Given the description of an element on the screen output the (x, y) to click on. 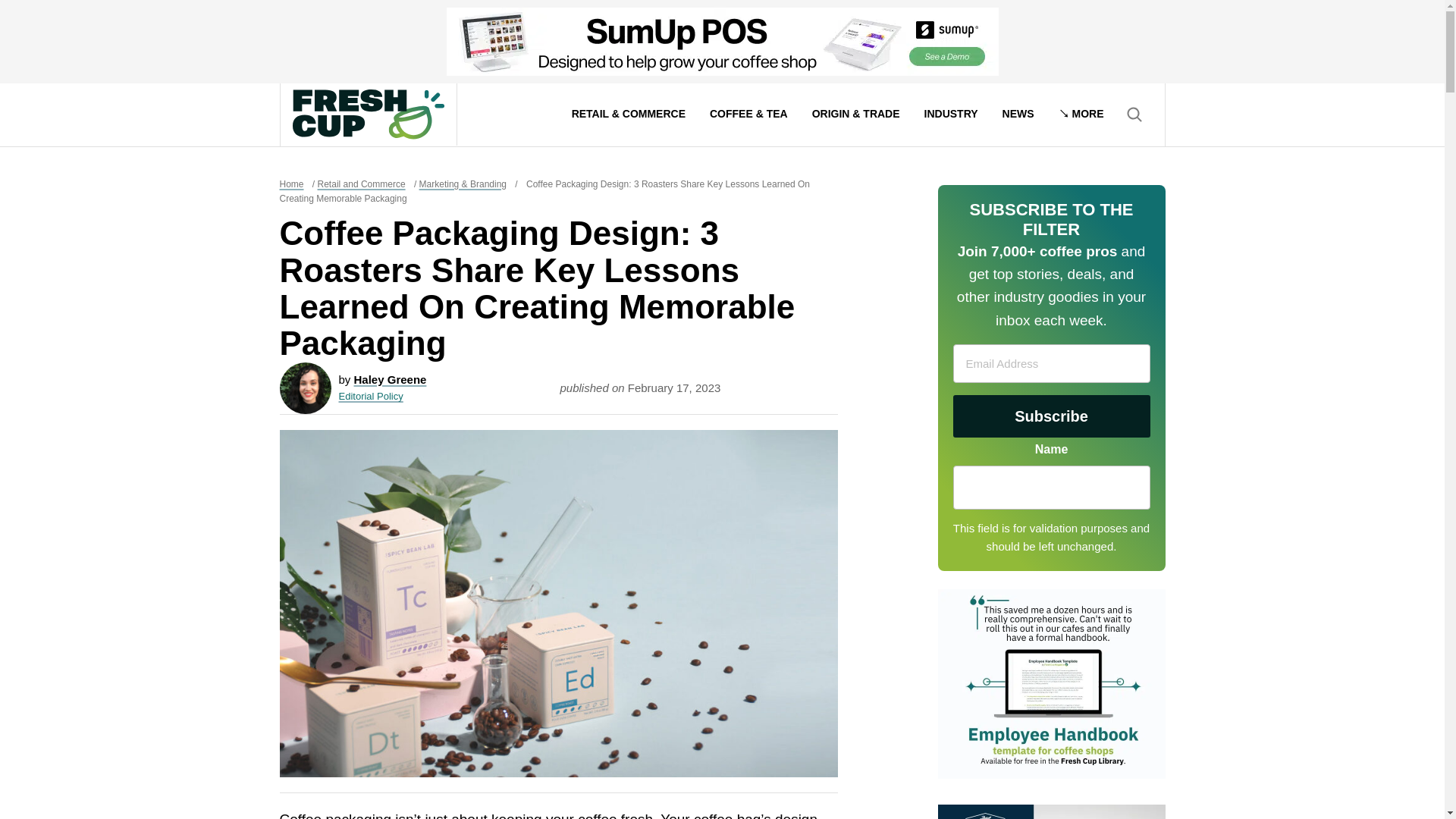
Fresh Cup Magazine (368, 114)
Subscribe (1051, 415)
NEWS (1018, 114)
INDUSTRY (951, 114)
